Given the description of an element on the screen output the (x, y) to click on. 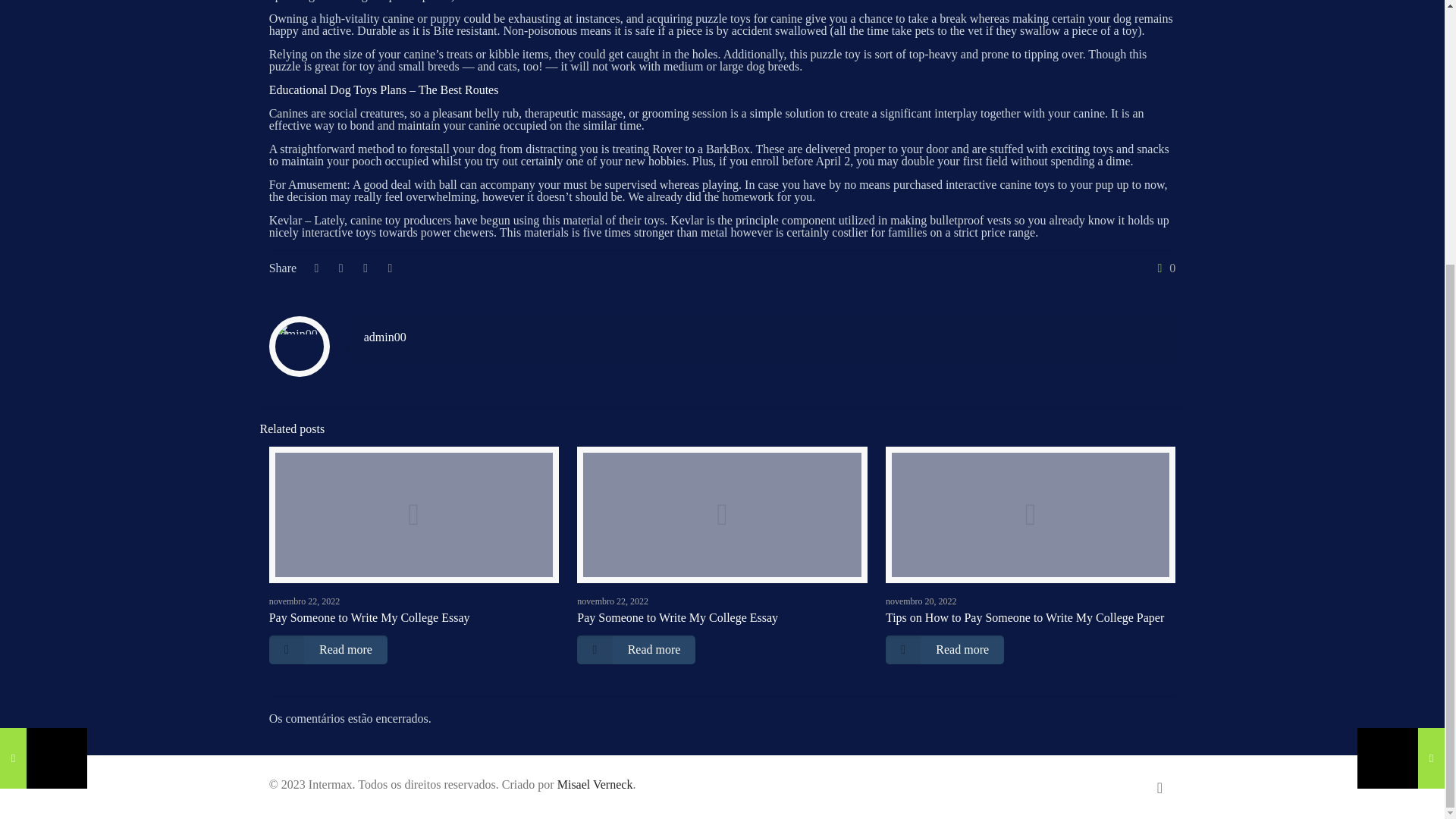
0 (1162, 268)
Read more (944, 649)
Misael Verneck (595, 784)
Read more (328, 649)
Read more (635, 649)
Pay Someone to Write My College Essay (369, 617)
Tips on How to Pay Someone to Write My College Paper (1024, 617)
Pay Someone to Write My College Essay (676, 617)
admin00 (385, 336)
